Given the description of an element on the screen output the (x, y) to click on. 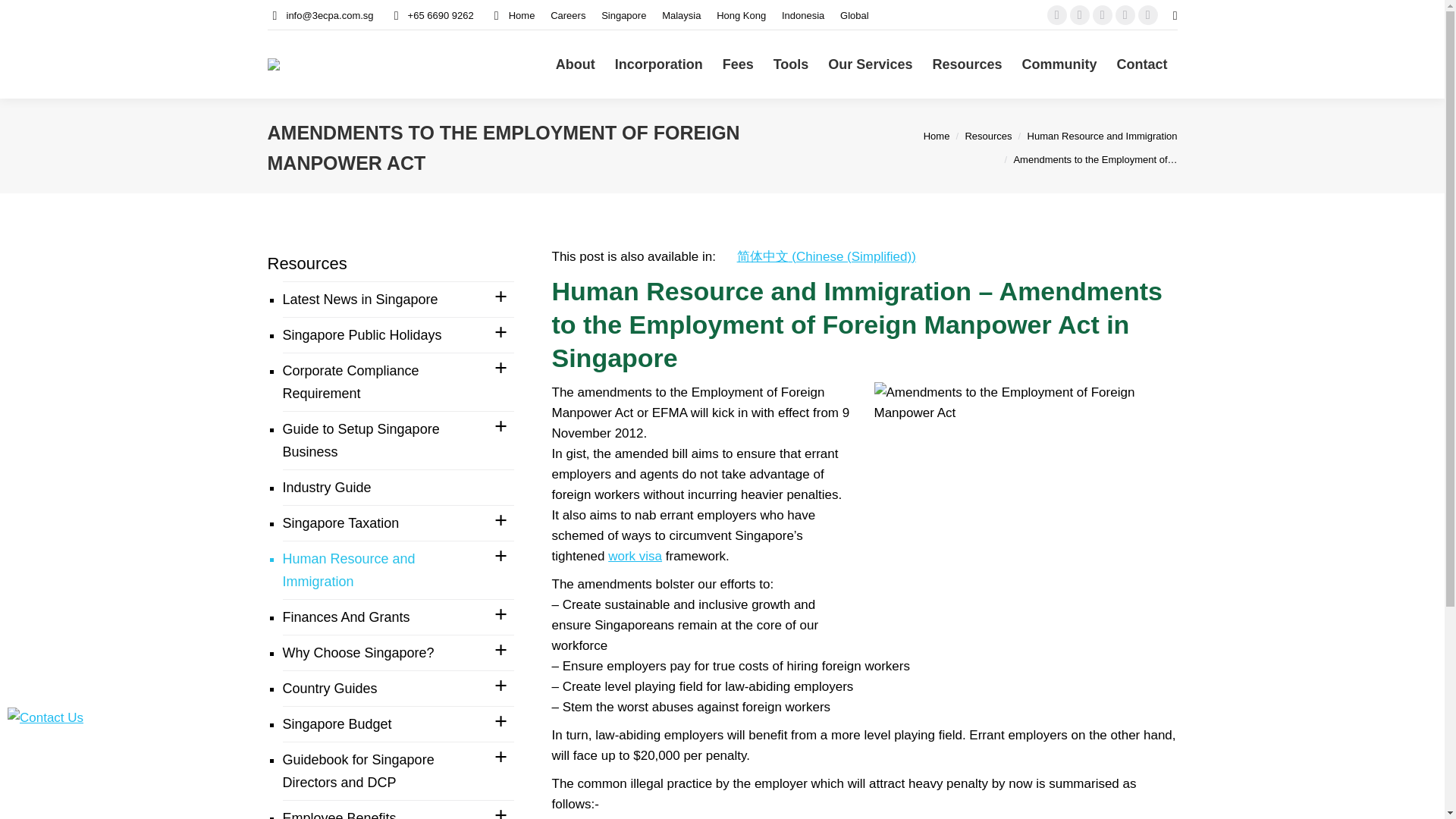
3E Accounting International Network (854, 14)
YouTube page opens in new window (1102, 14)
Go! (24, 16)
X page opens in new window (1079, 14)
Malaysia (681, 14)
Instagram page opens in new window (1147, 14)
Home (512, 14)
3E Accounting Indonesia (802, 14)
Careers (567, 14)
Instagram page opens in new window (1147, 14)
X page opens in new window (1079, 14)
Facebook page opens in new window (1056, 14)
Singapore (623, 14)
3E Accounting Singapore (623, 14)
Incorporation (659, 64)
